Given the description of an element on the screen output the (x, y) to click on. 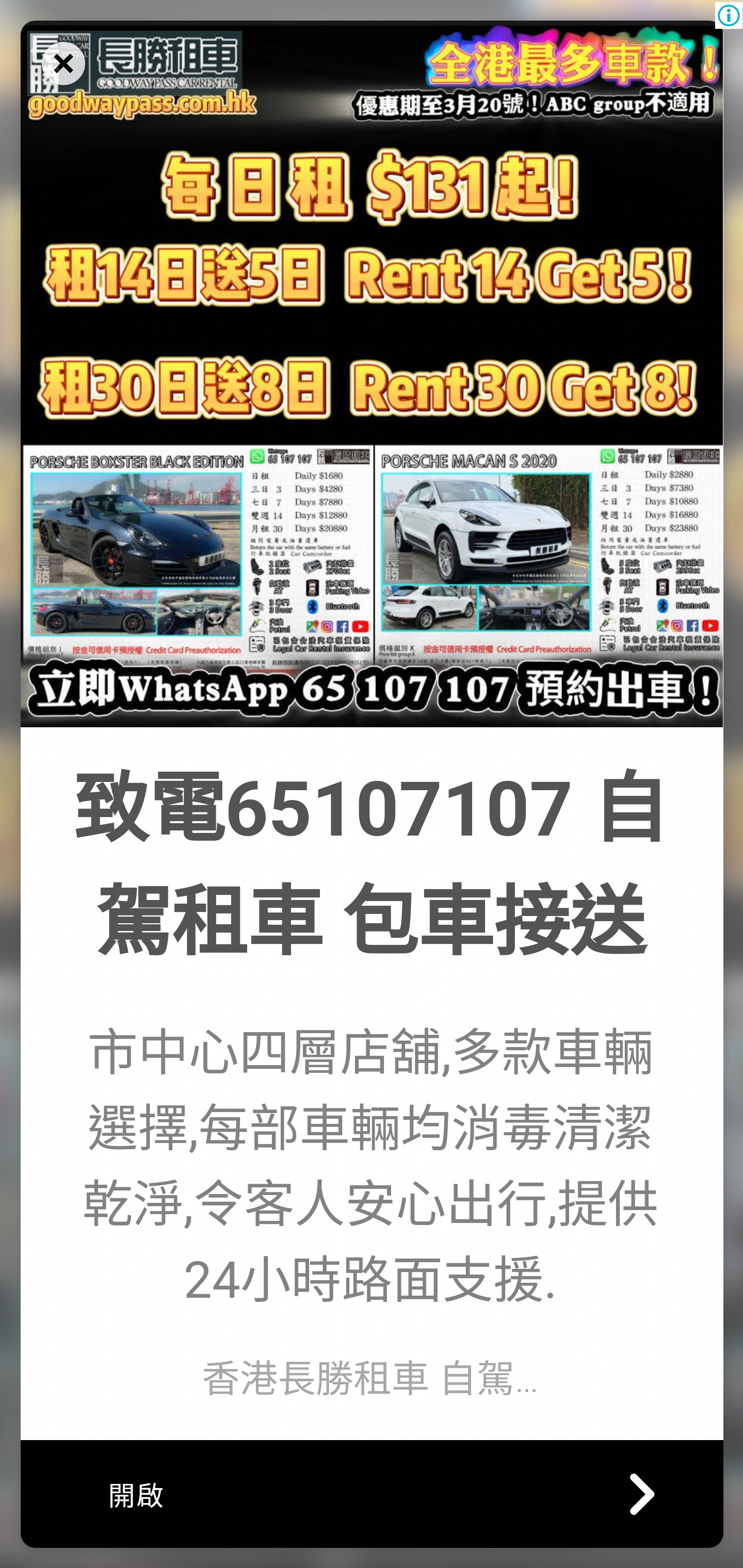
goodwaypass.com (371, 373)
致電65107107 自 駕租車 包車接送 致電65107107 自 
 駕租車 包車接送 (369, 866)
香港長勝租車 自駕… (369, 1377)
開啟 (371, 1493)
